Given the description of an element on the screen output the (x, y) to click on. 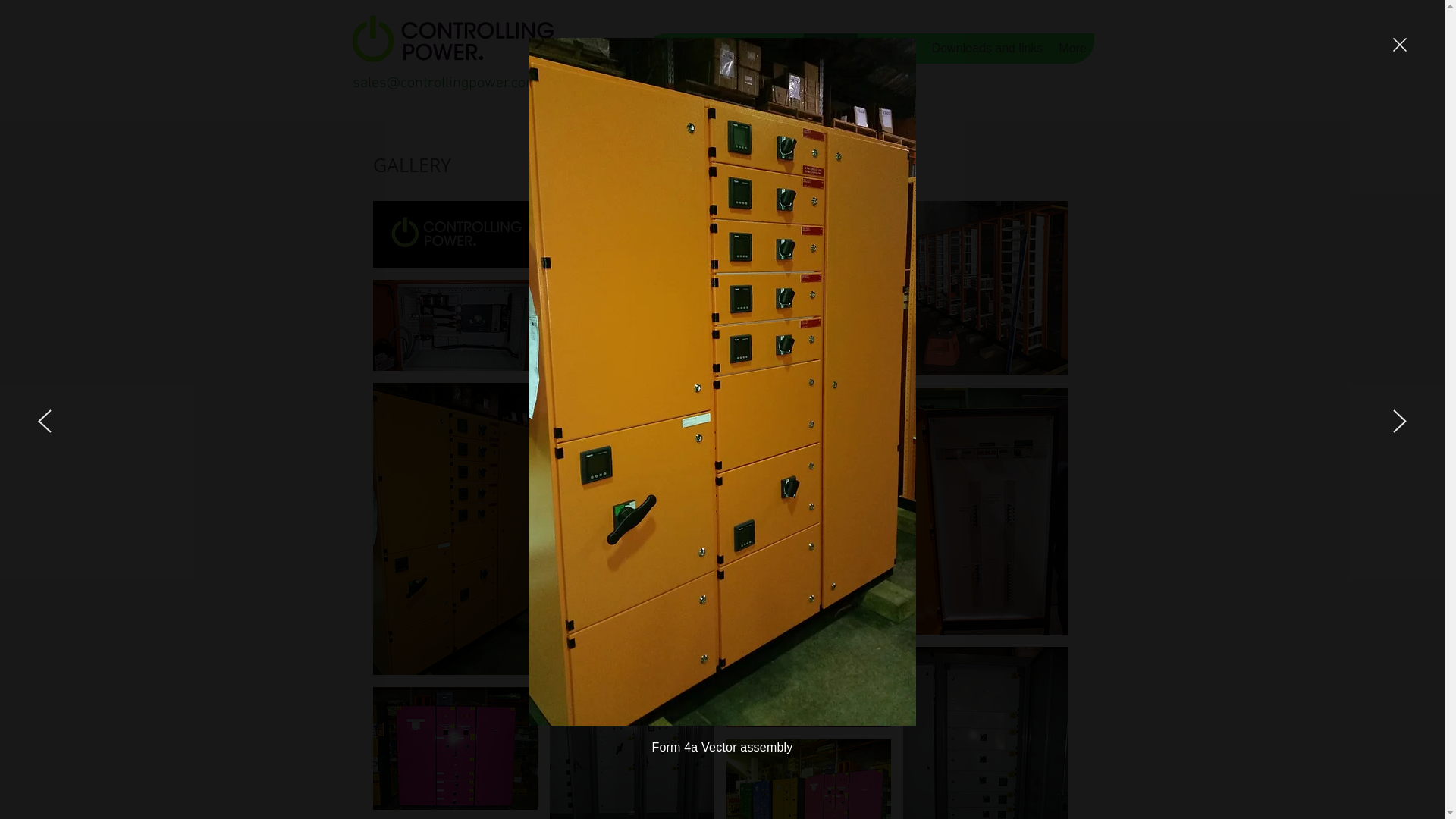
About Us Element type: text (889, 48)
Gallery Element type: text (829, 48)
Home Element type: text (689, 48)
Switchboards Element type: text (758, 48)
sales@controllingpower.com.au Element type: text (453, 83)
Downloads and links Element type: text (987, 48)
